Given the description of an element on the screen output the (x, y) to click on. 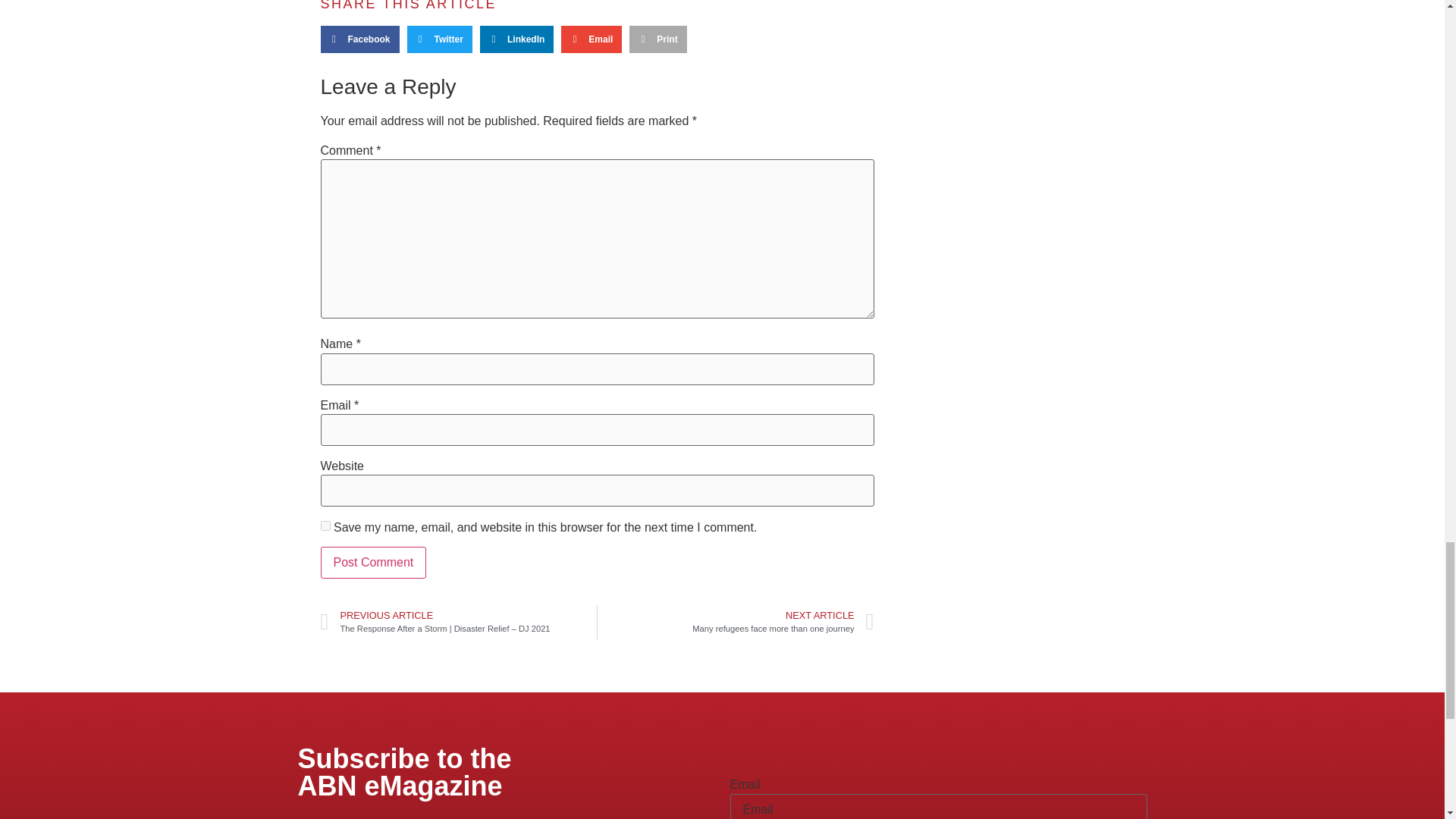
yes (325, 525)
Post Comment (373, 562)
